Given the description of an element on the screen output the (x, y) to click on. 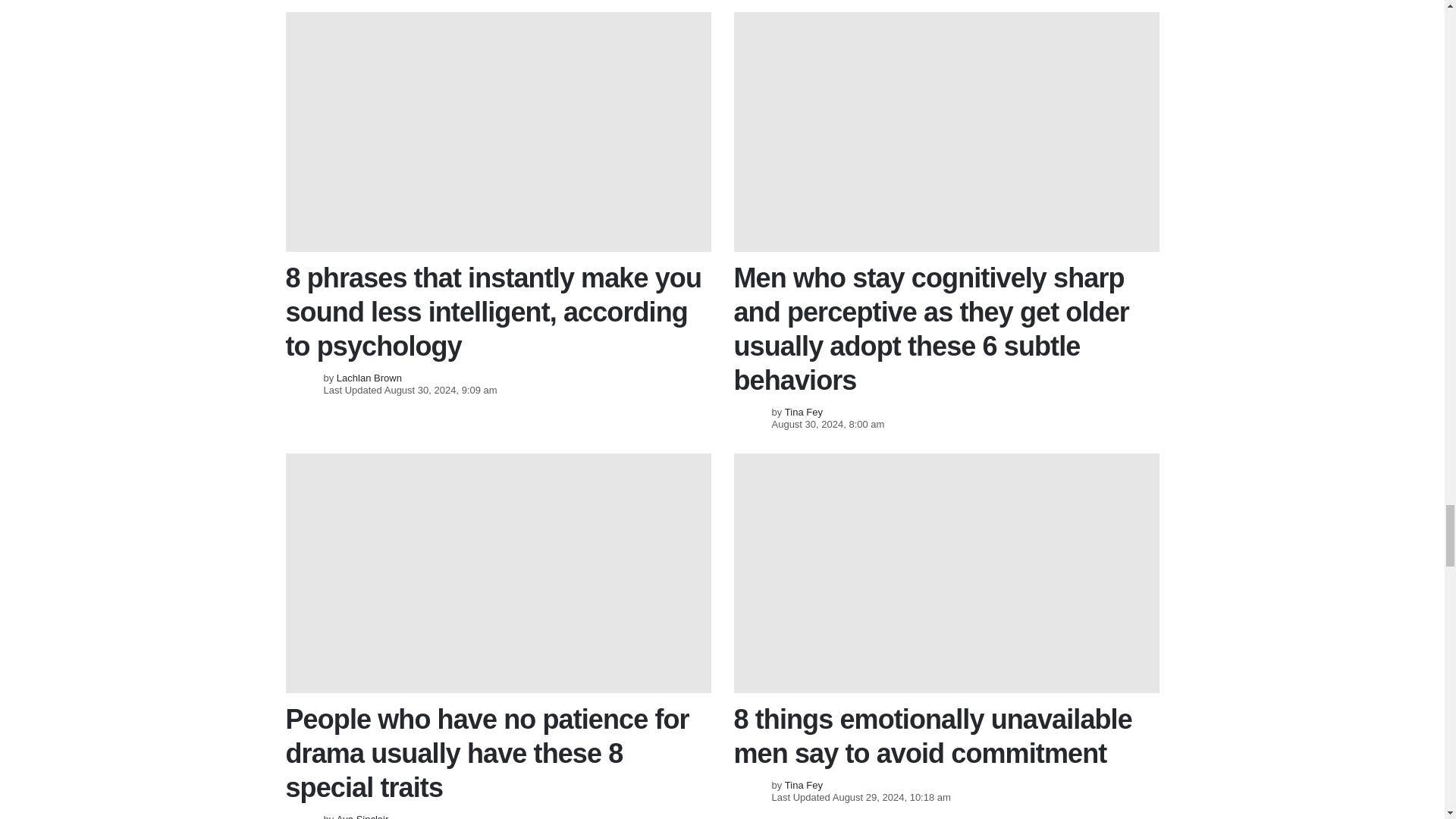
Posts by Lachlan Brown (368, 378)
Posts by Tina Fey (803, 411)
Posts by Tina Fey (803, 785)
8 things emotionally unavailable men say to avoid commitment (945, 572)
Posts by Ava Sinclair (362, 816)
